Given the description of an element on the screen output the (x, y) to click on. 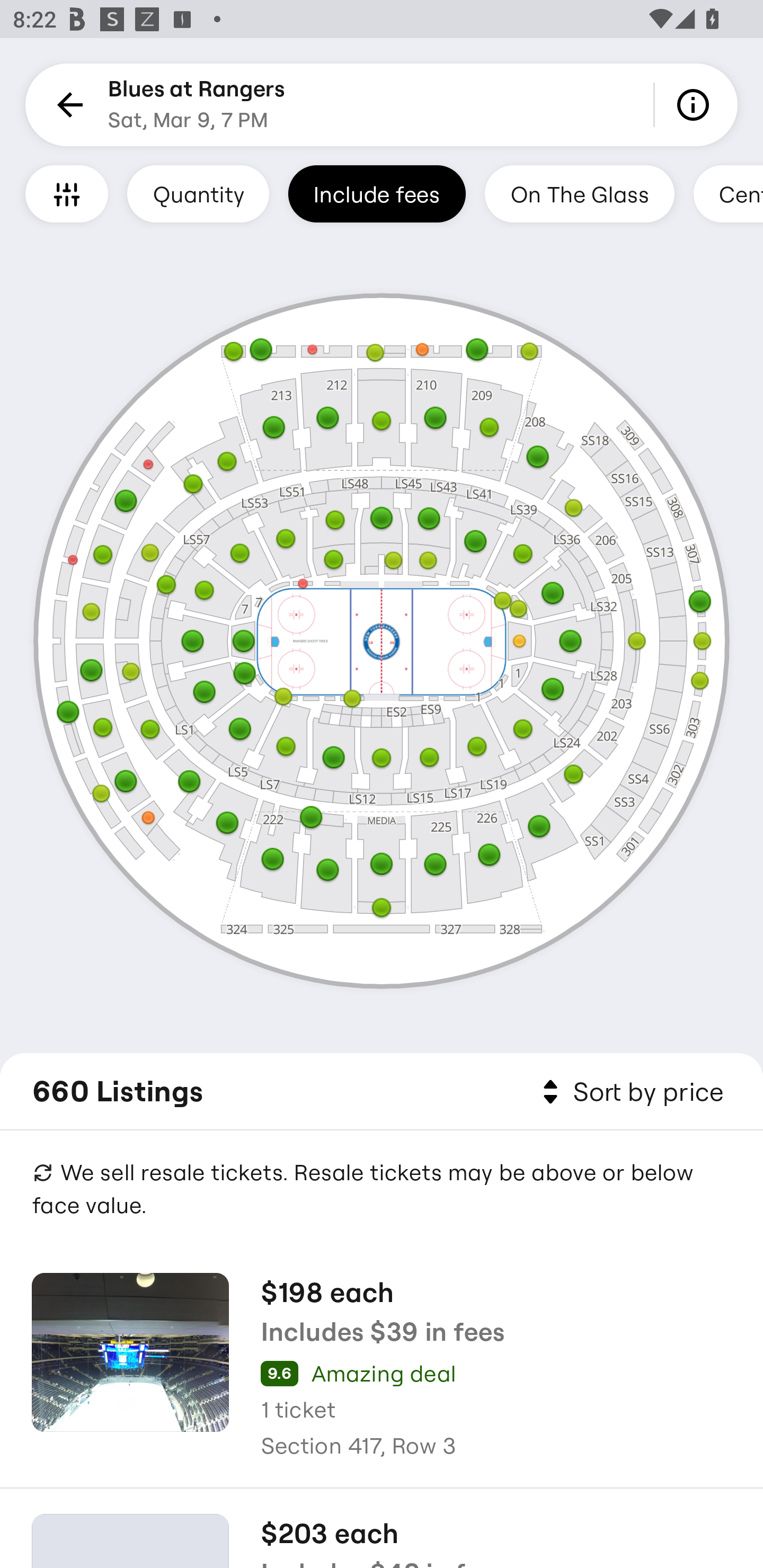
Back (66, 104)
Blues at Rangers Sat, Mar 9, 7 PM (196, 104)
Info (695, 104)
Filters and Accessible Seating (66, 193)
Quantity (198, 193)
Include fees (376, 193)
On The Glass (579, 193)
Sort by price (629, 1091)
